Given the description of an element on the screen output the (x, y) to click on. 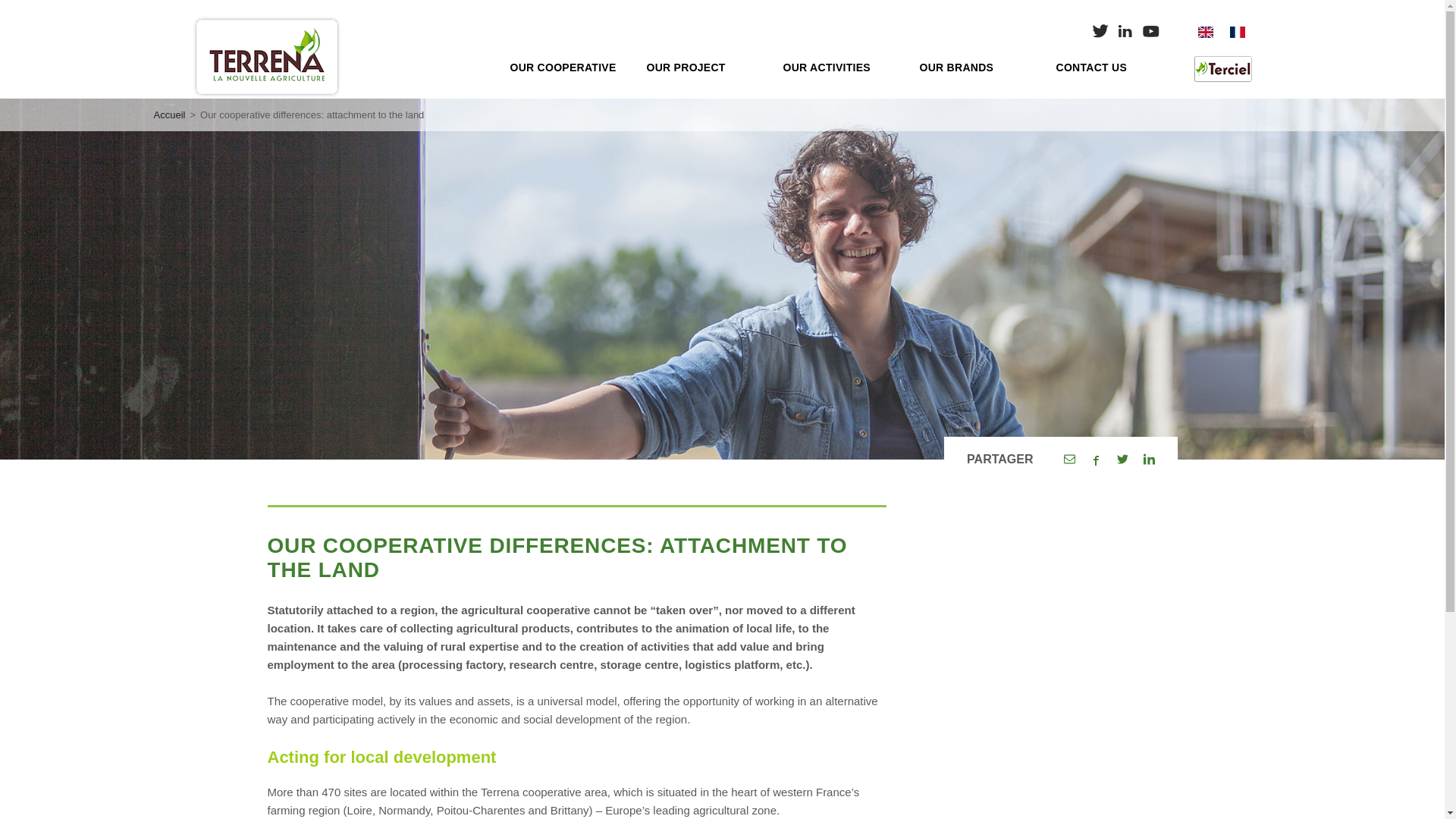
Send by email (1068, 459)
CONTACT US (1112, 67)
Share on Linkedin (1148, 459)
OUR BRANDS (975, 67)
Tweet (1121, 459)
Share on Facebook (1096, 459)
OUR COOPERATIVE (566, 67)
Accueil (168, 114)
OUR PROJECT (703, 67)
OUR ACTIVITIES (839, 67)
